Given the description of an element on the screen output the (x, y) to click on. 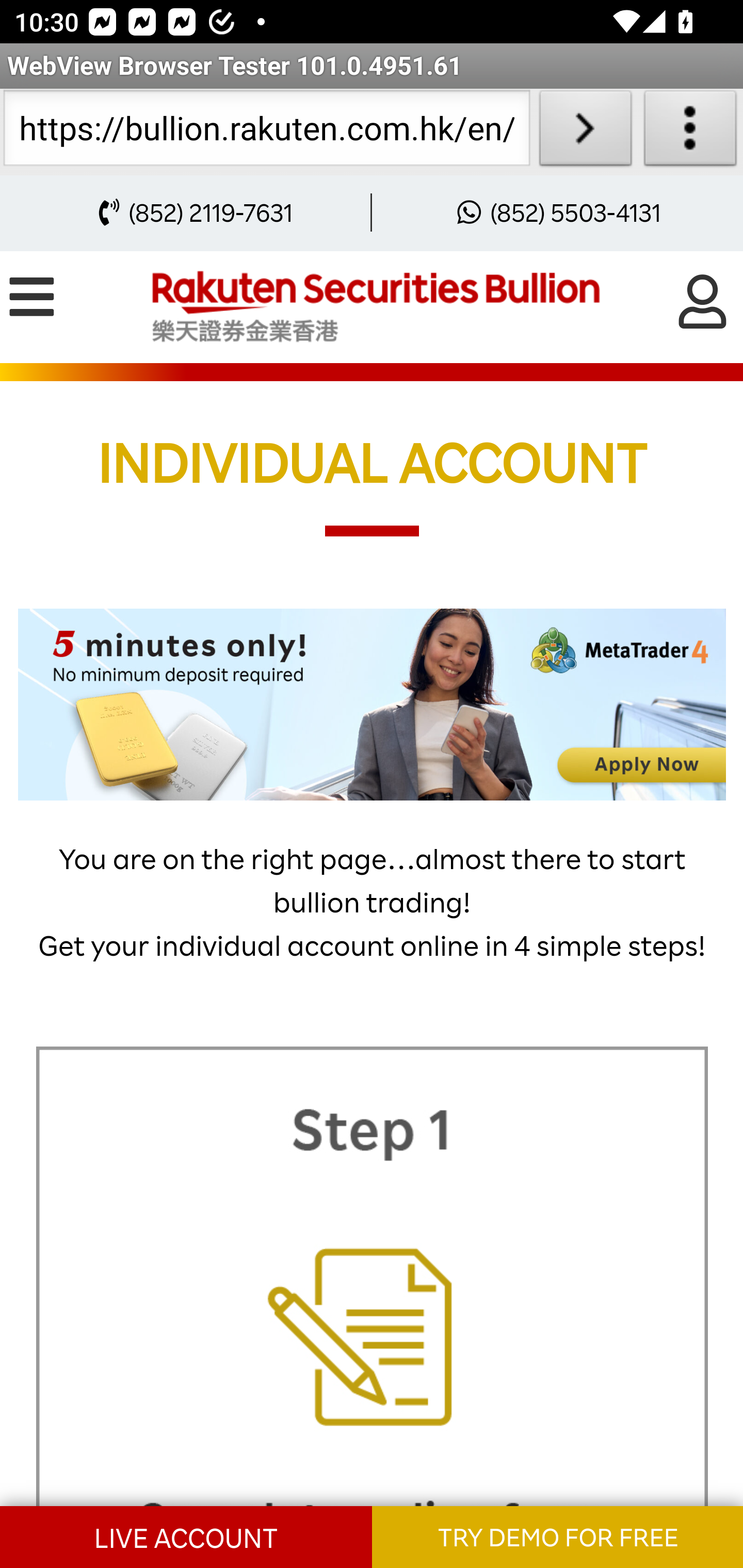
Load URL (585, 132)
About WebView (690, 132)
(852) 2119-7631 (189, 212)
(852) 5503-4131 (554, 212)
Open/Close Menu (32, 297)
en (375, 307)
login?locale=zh_tw (703, 301)
personalDetail?request_locale=zh_TW (372, 704)
LIVE ACCOUNT (186, 1535)
TRY DEMO FOR FREE (557, 1535)
